Given the description of an element on the screen output the (x, y) to click on. 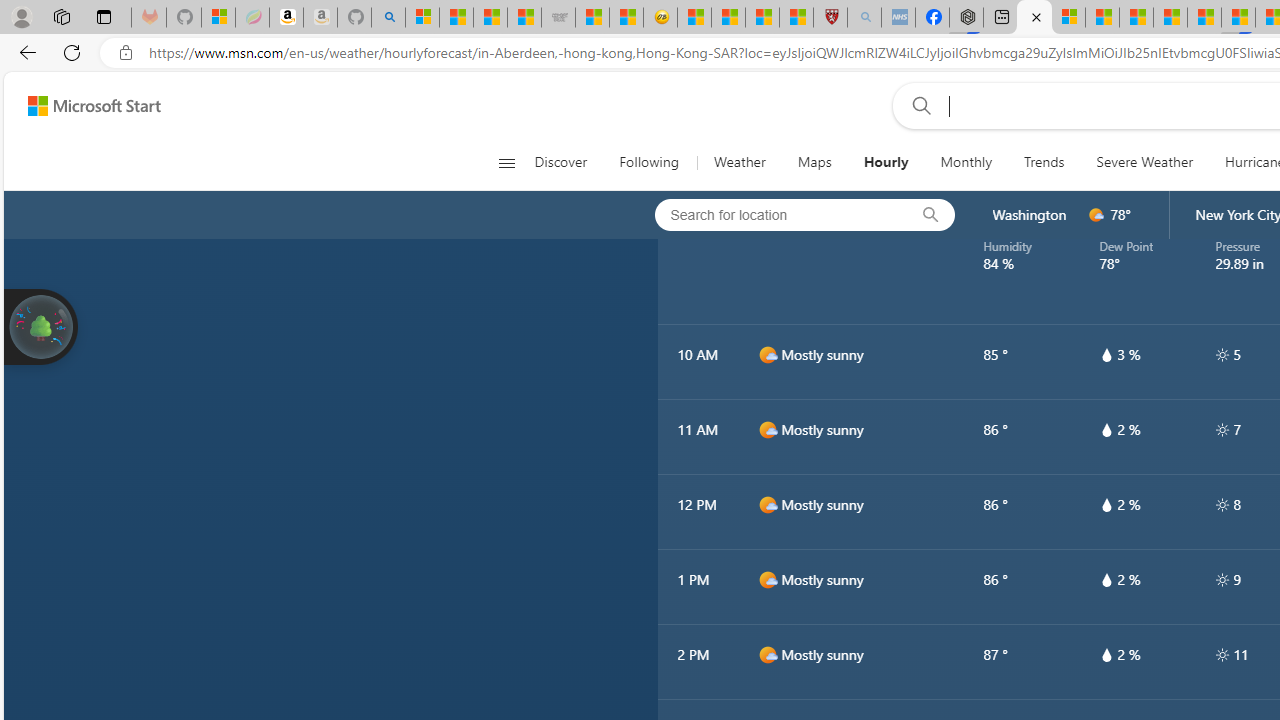
Hourly (885, 162)
d1000 (767, 655)
Recipes - MSN (694, 17)
Open navigation menu (506, 162)
